Given the description of an element on the screen output the (x, y) to click on. 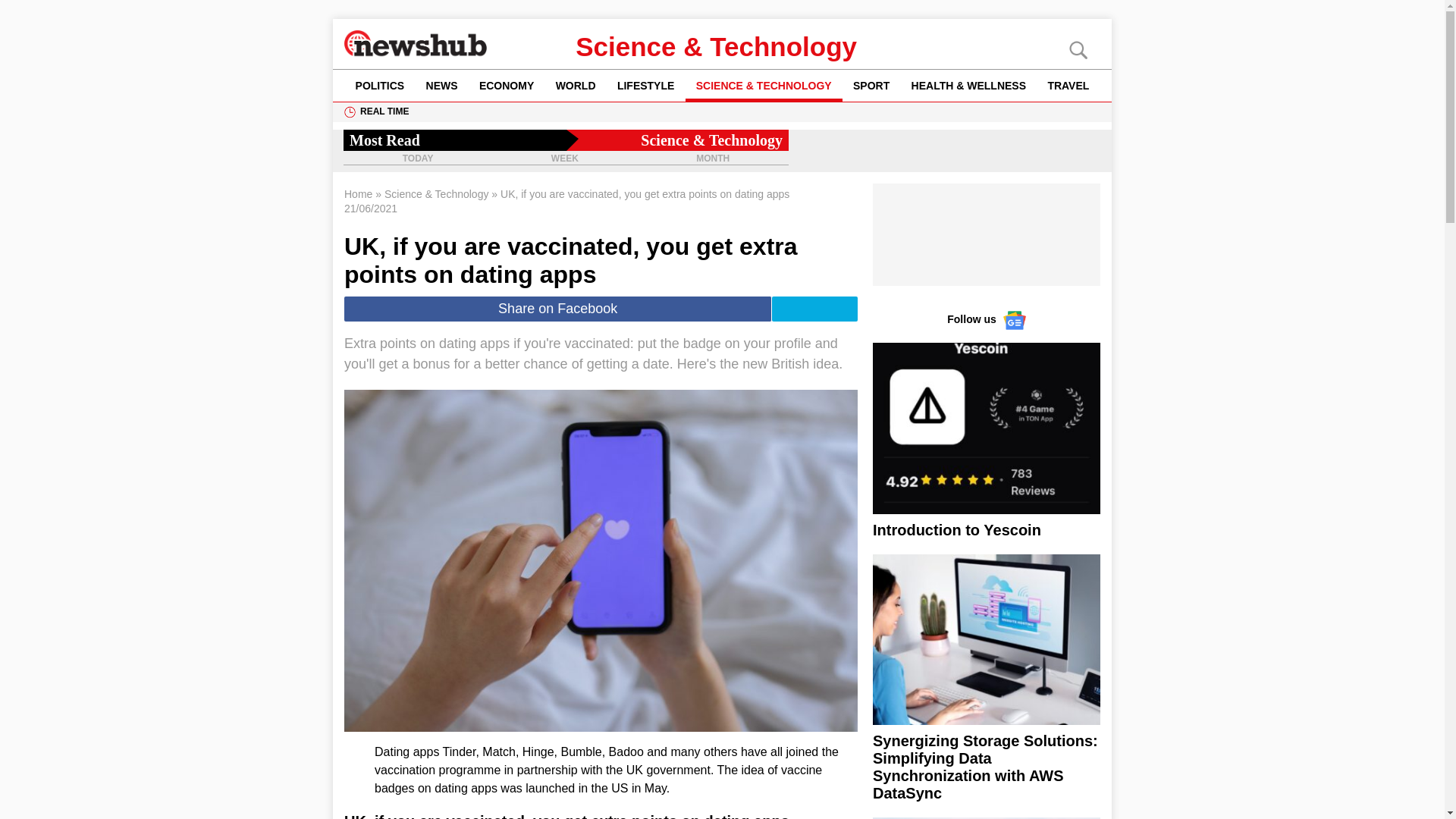
SPORT (872, 85)
LIFESTYLE (646, 85)
Search (37, 11)
POLITICS (378, 85)
ECONOMY (506, 85)
NEWS (440, 85)
REAL TIME (384, 111)
TRAVEL (1067, 85)
WORLD (574, 85)
